Given the description of an element on the screen output the (x, y) to click on. 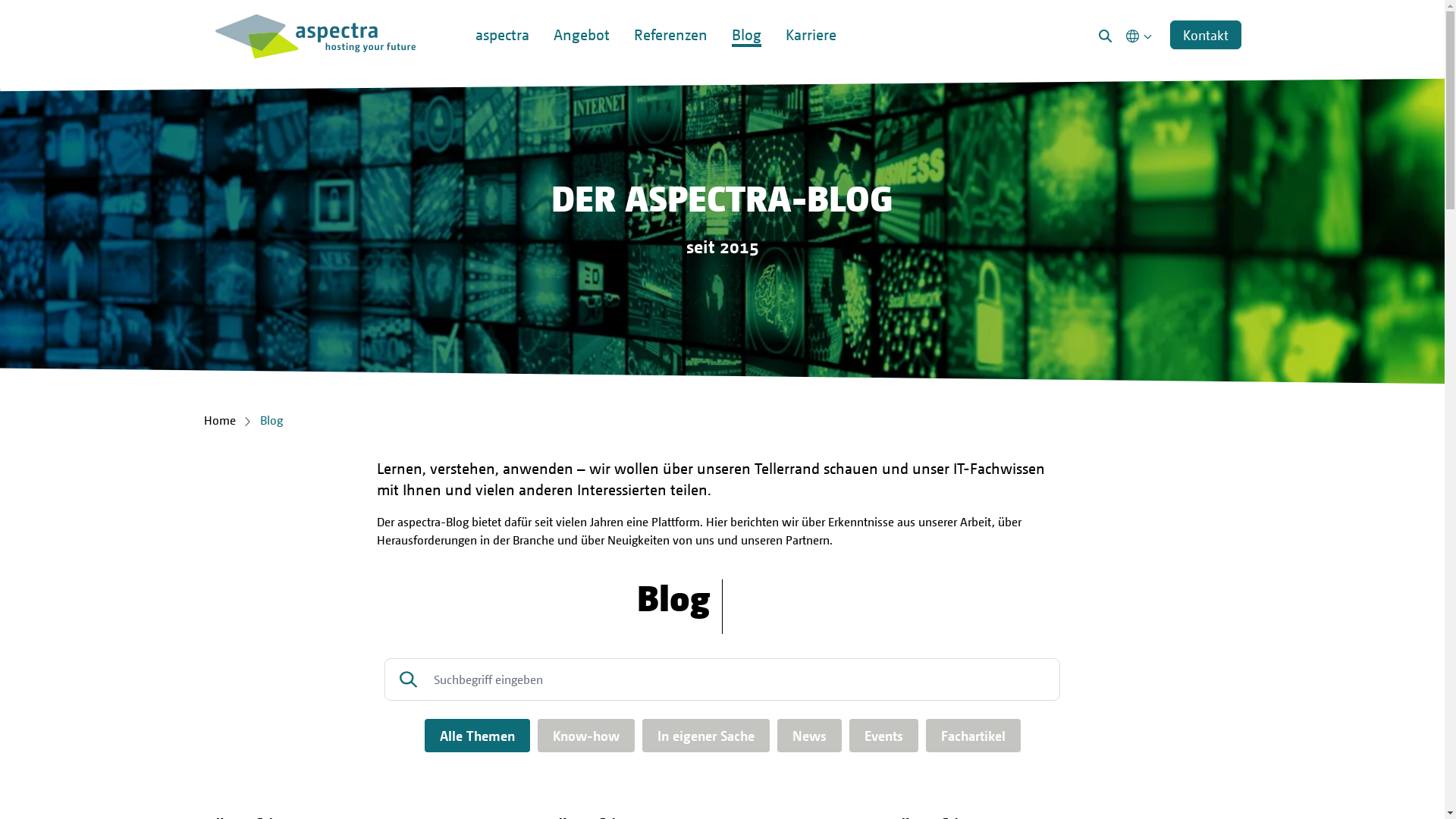
Blog Element type: text (270, 419)
Blog Element type: text (746, 64)
Angebot Element type: text (581, 64)
Home Element type: text (219, 419)
Karriere Element type: text (810, 64)
aspectra Element type: text (502, 64)
Referenzen Element type: text (670, 64)
Kontakt Element type: text (1204, 34)
